Given the description of an element on the screen output the (x, y) to click on. 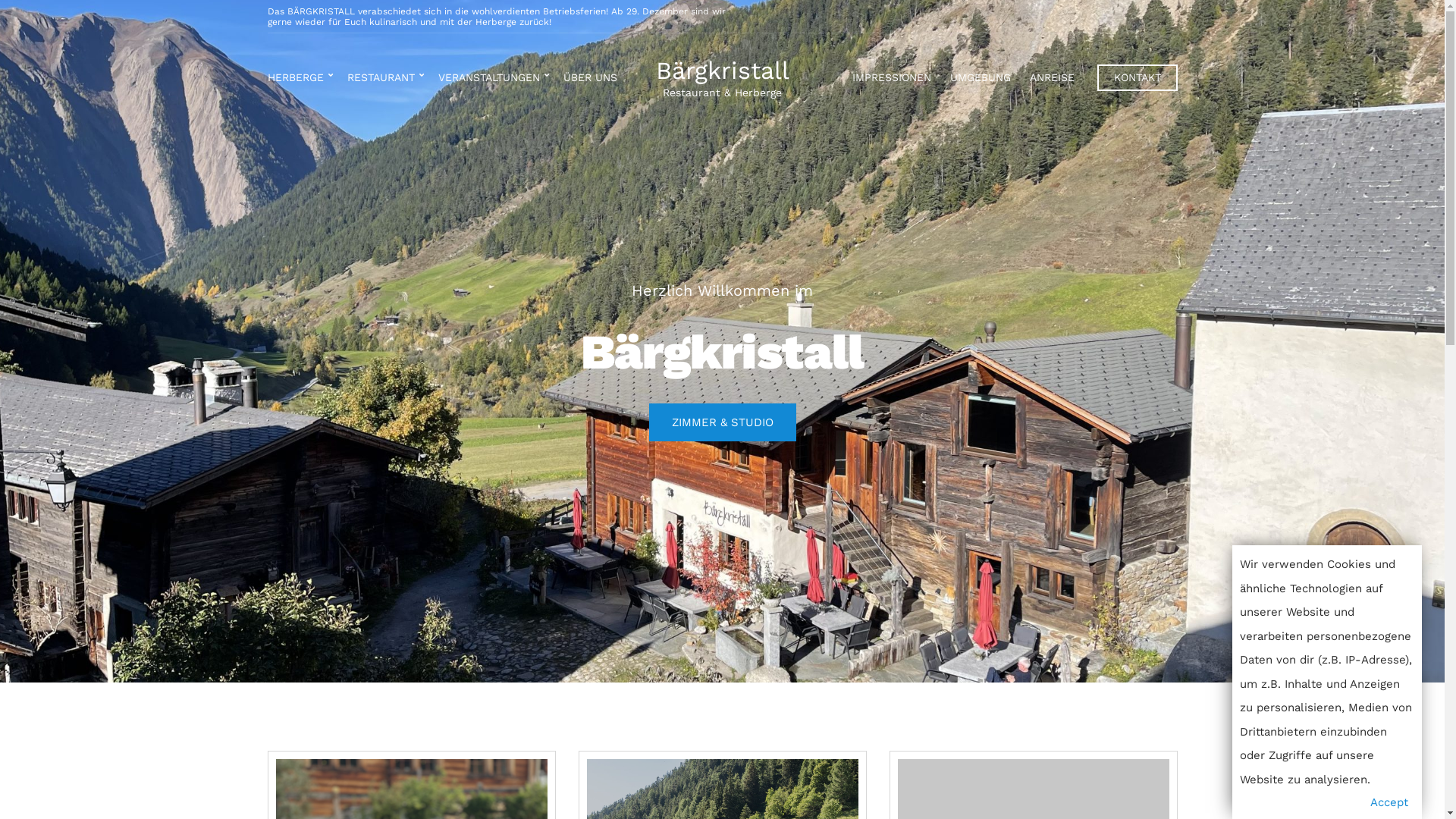
VERANSTALTUNGEN Element type: text (491, 78)
ZIMMER & STUDIO Element type: text (722, 422)
UMGEBUNG Element type: text (979, 78)
ANREISE Element type: text (1051, 78)
RESTAURANT Element type: text (383, 78)
IMPRESSIONEN Element type: text (891, 78)
Accept Element type: text (1389, 802)
HERBERGE Element type: text (296, 78)
KONTAKT Element type: text (1136, 77)
